Given the description of an element on the screen output the (x, y) to click on. 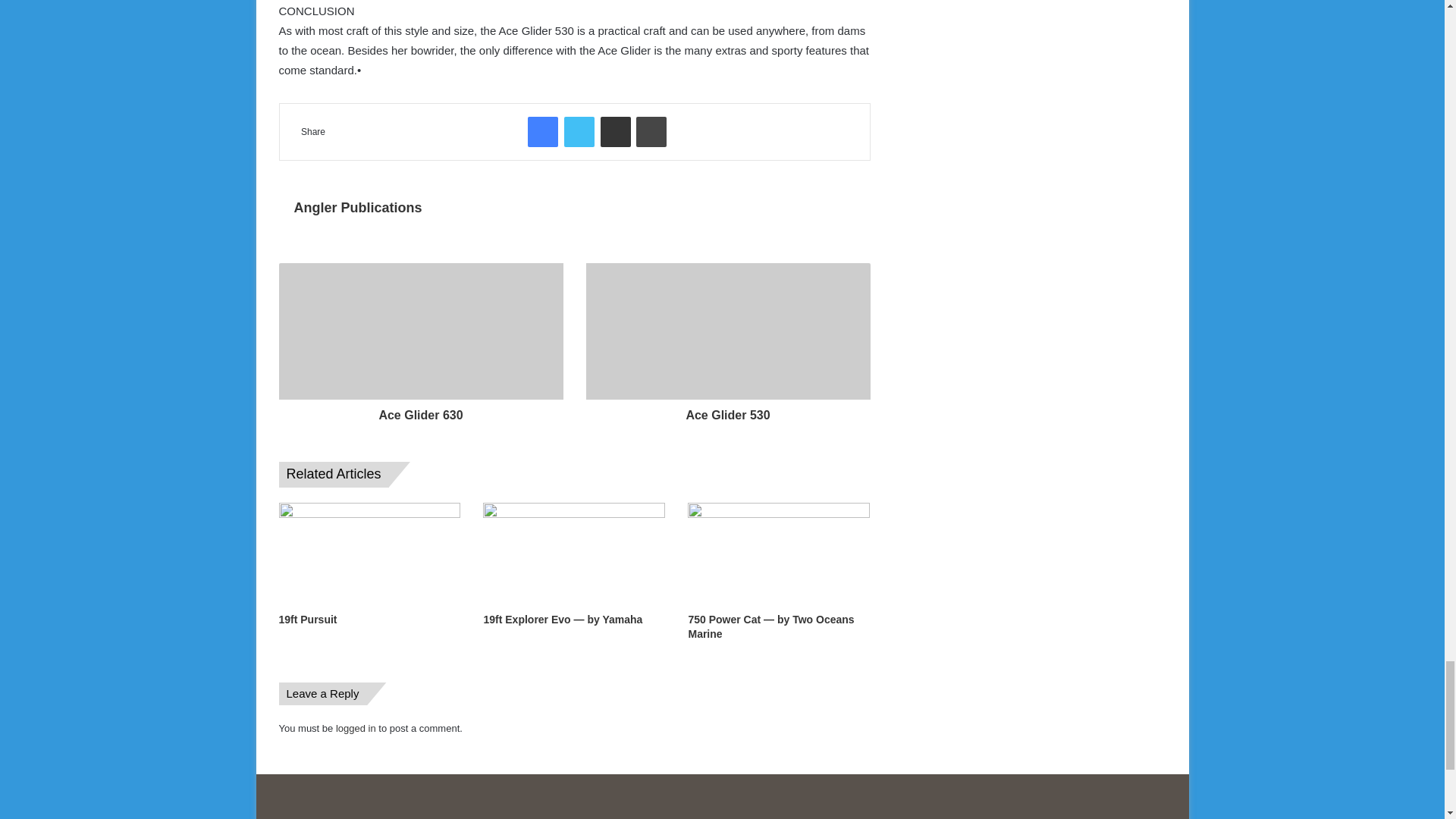
Twitter (579, 132)
Angler Publications (358, 207)
19ft Pursuit (308, 619)
Ace Glider 530 (727, 411)
Facebook (542, 132)
Share via Email (614, 132)
Print (651, 132)
Twitter (579, 132)
Facebook (542, 132)
Ace Glider 630 (421, 411)
